Given the description of an element on the screen output the (x, y) to click on. 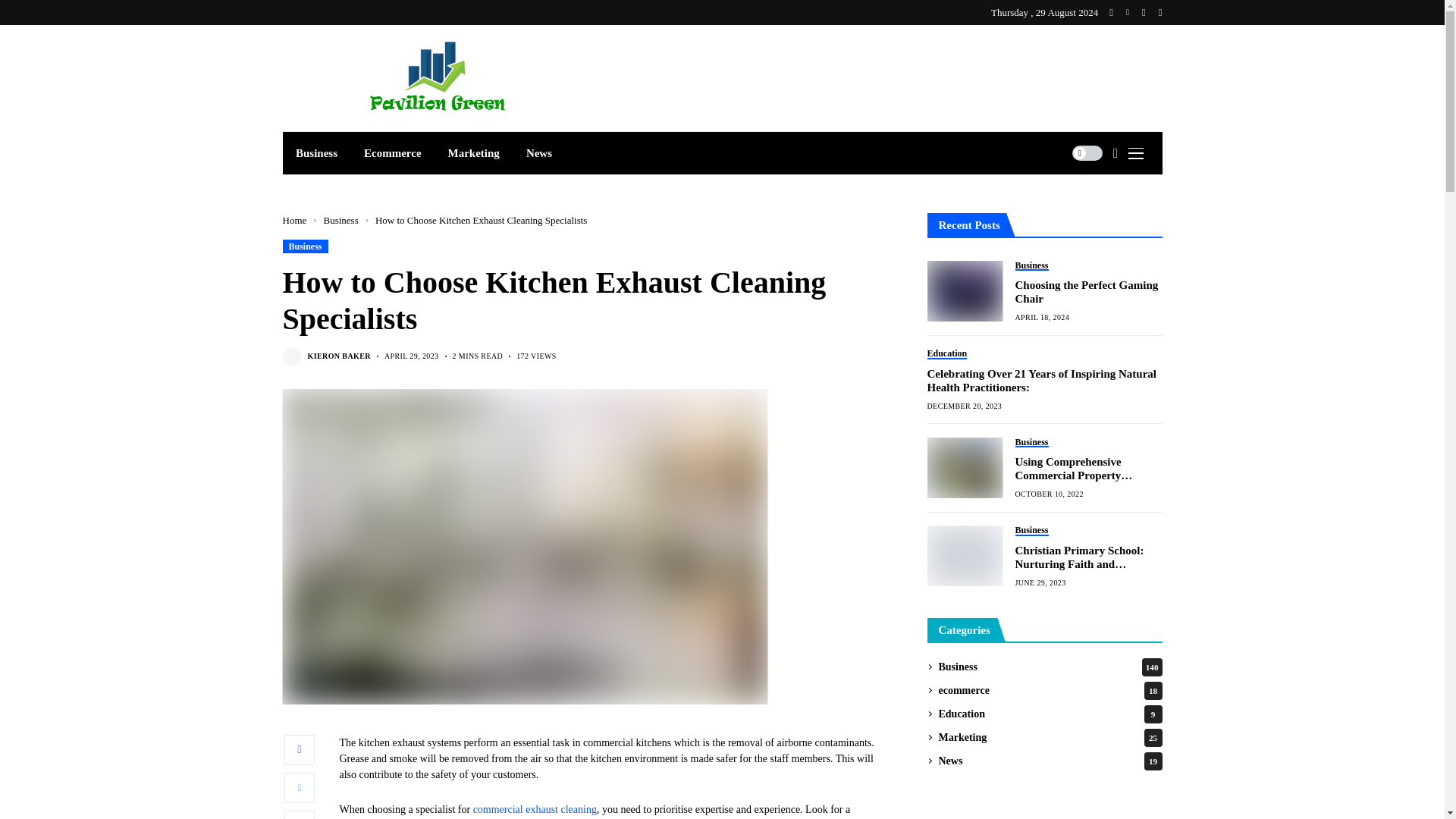
Ecommerce (392, 152)
Home (293, 220)
Posts by Kieron Baker (339, 356)
Marketing (472, 152)
News (538, 152)
Business (316, 152)
Business (340, 220)
Business (304, 246)
